Given the description of an element on the screen output the (x, y) to click on. 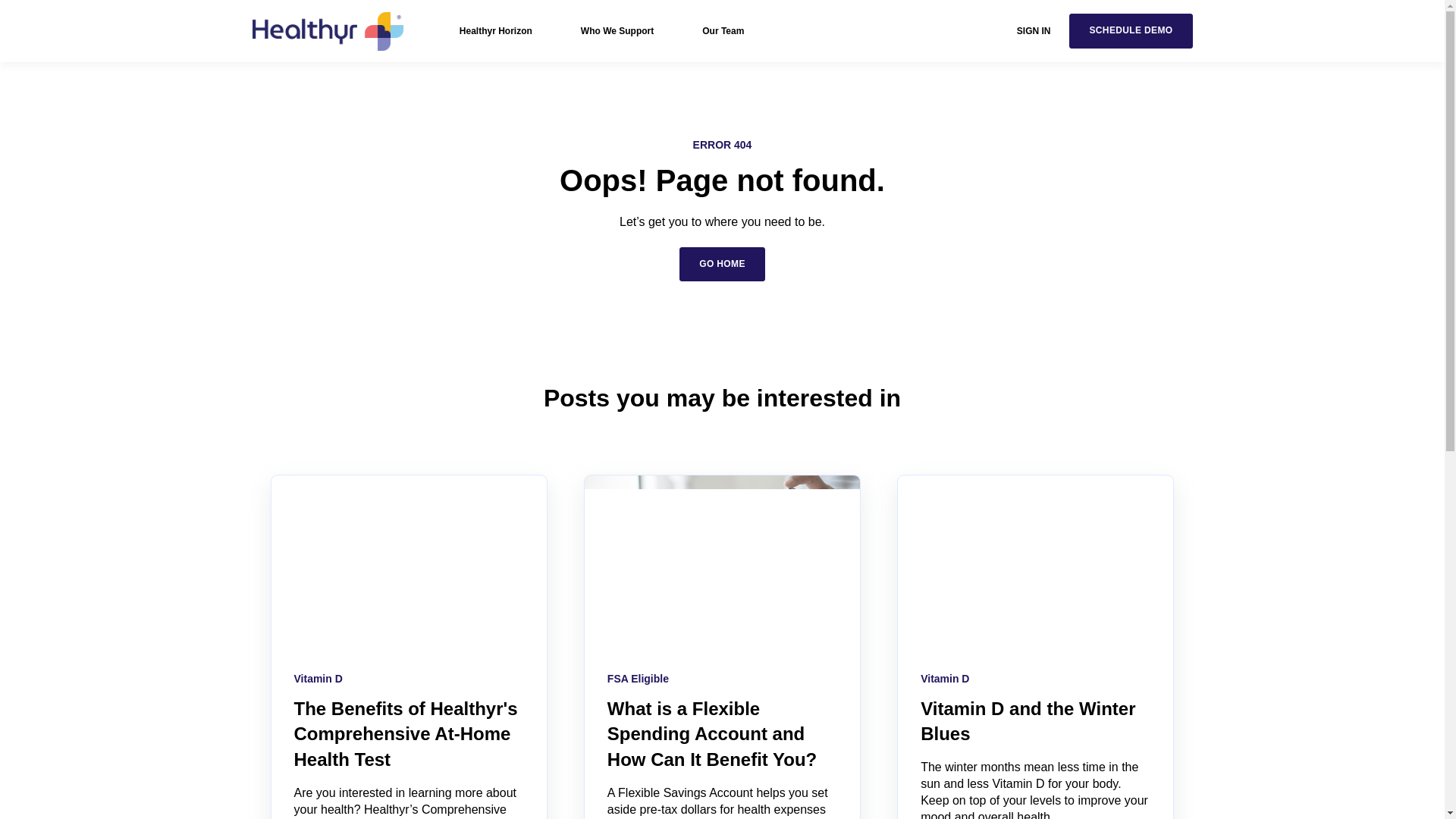
Our Team (722, 30)
Vitamin D and the Winter Blues (1027, 721)
Who We Support (616, 30)
The Benefits of Healthyr's Comprehensive At-Home Health Test (406, 733)
GO HOME (722, 264)
Healthyr Horizon (496, 30)
SCHEDULE DEMO (1130, 30)
SIGN IN (1033, 30)
